Given the description of an element on the screen output the (x, y) to click on. 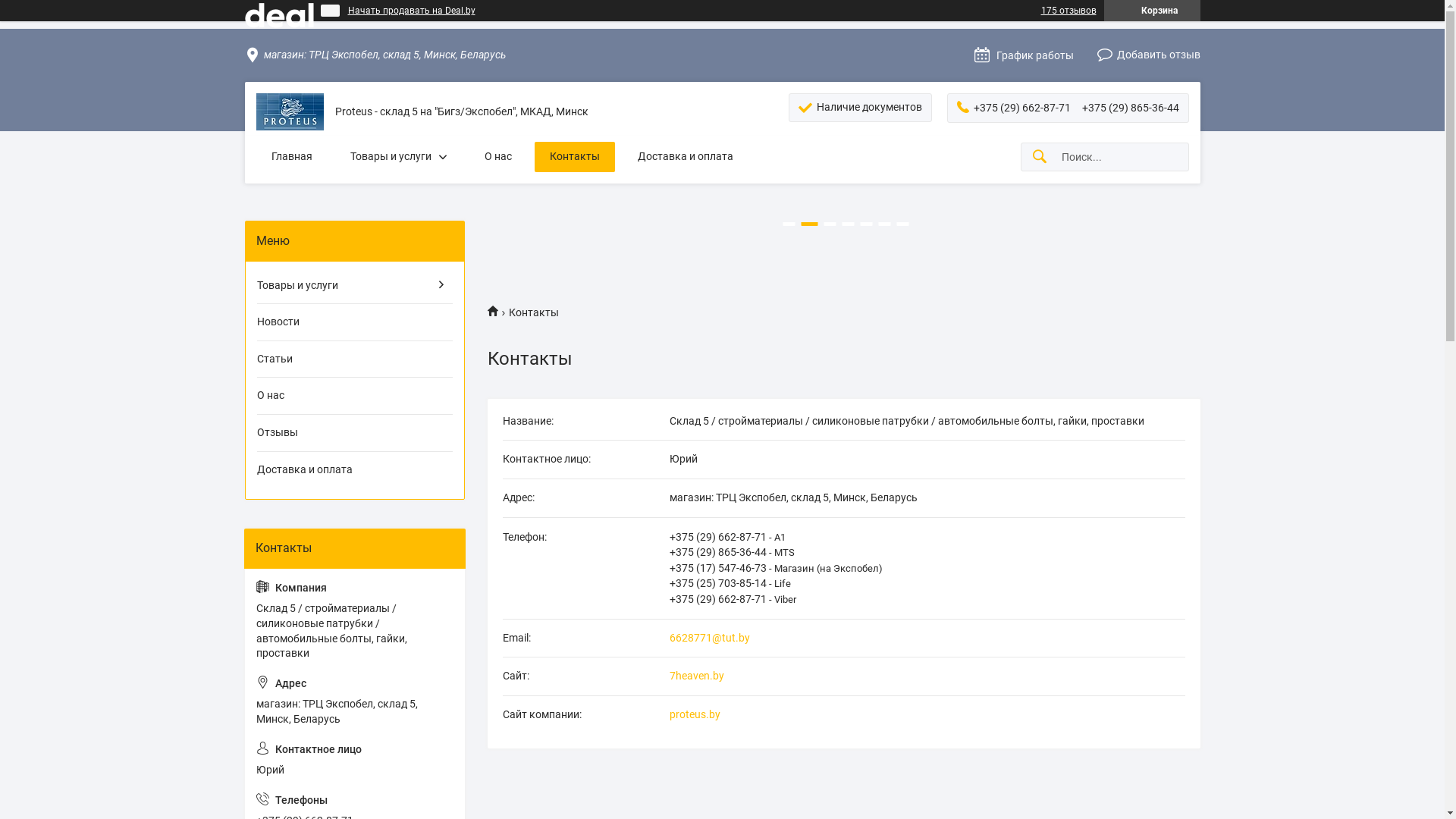
proteus.by Element type: text (843, 720)
7heaven.by Element type: text (843, 682)
6628771@tut.by Element type: text (843, 644)
